Given the description of an element on the screen output the (x, y) to click on. 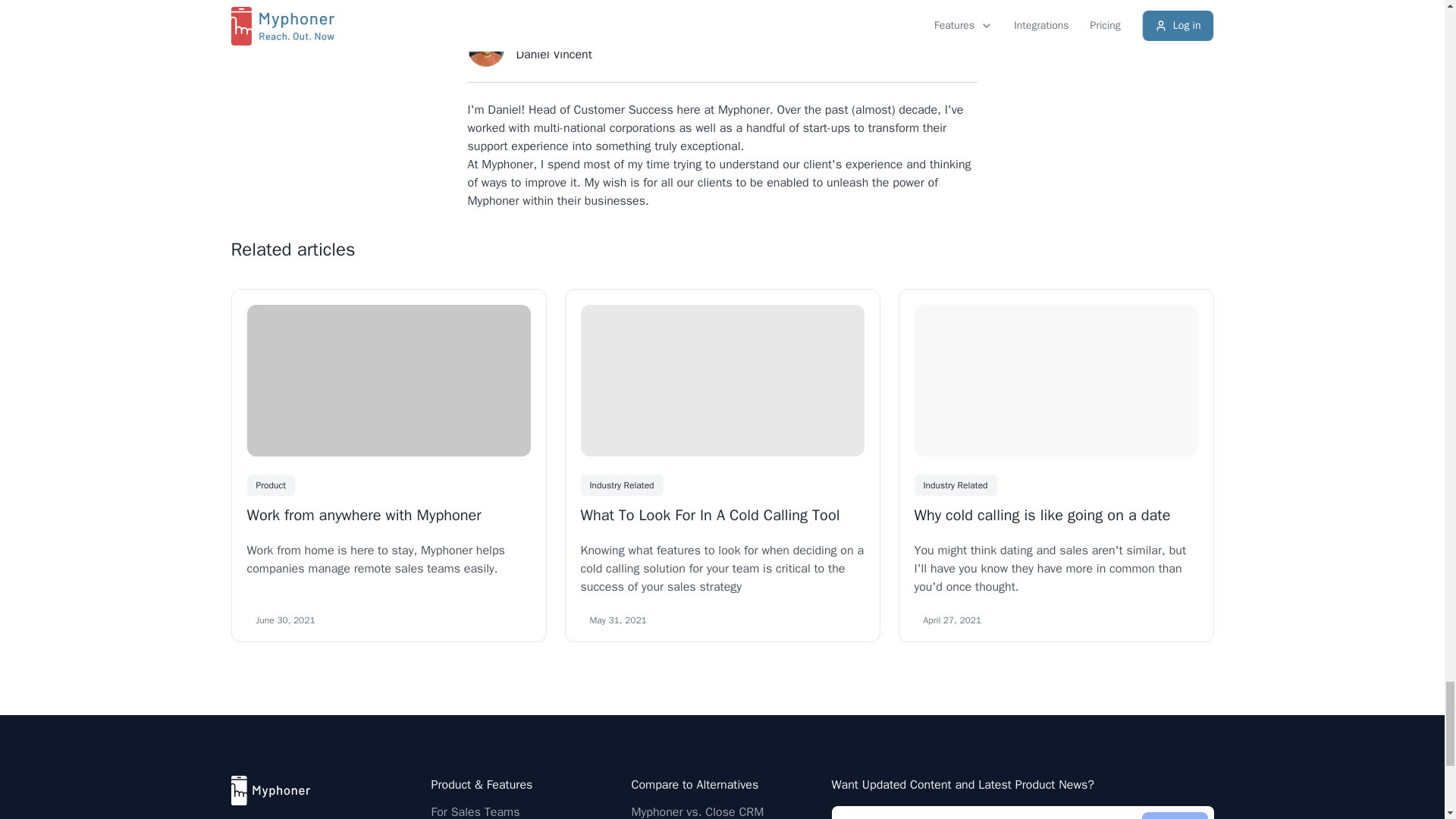
Myphoner vs. Close CRM (696, 811)
For Sales Teams (474, 811)
